Given the description of an element on the screen output the (x, y) to click on. 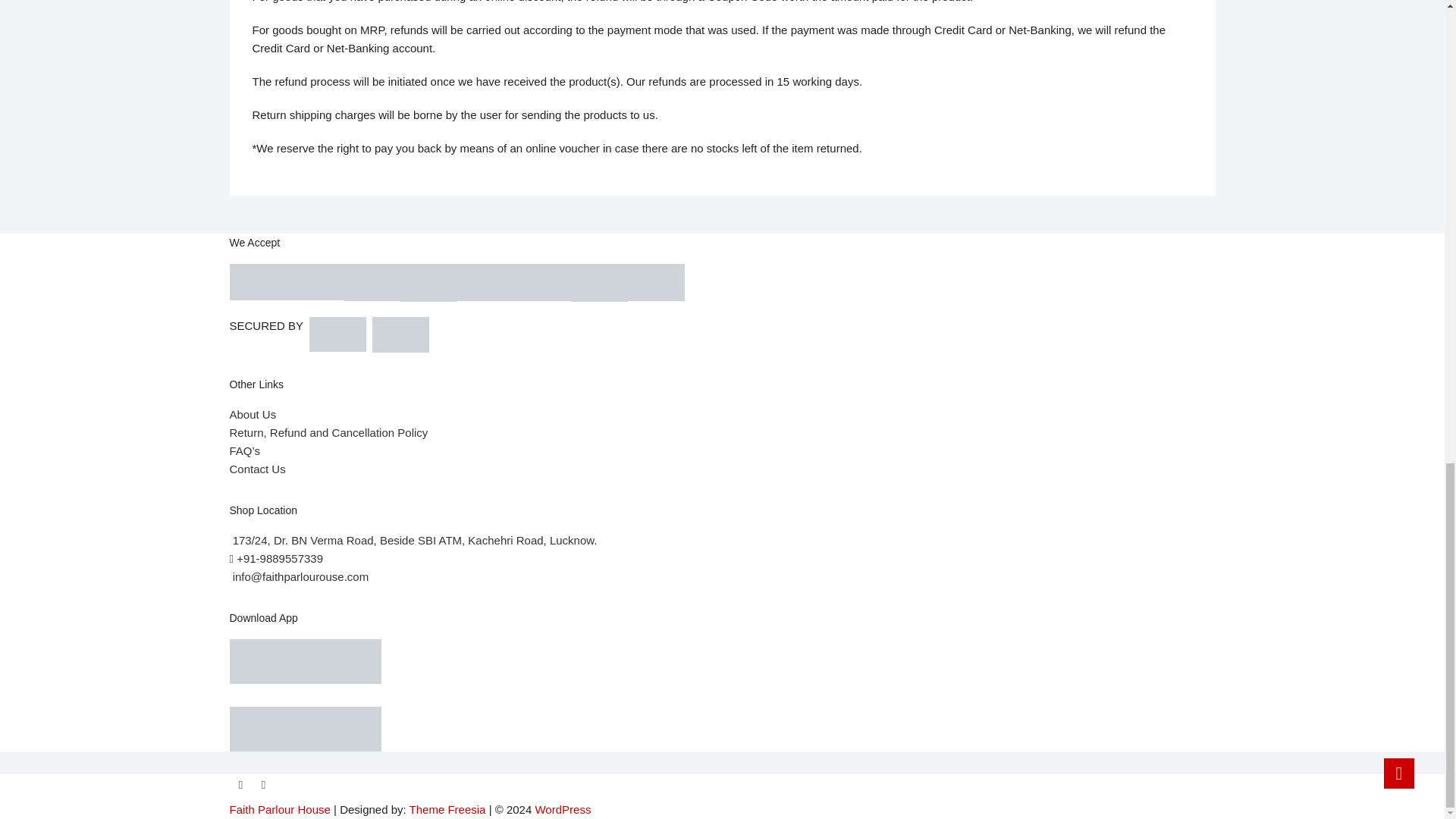
Theme Freesia (447, 809)
WordPress (562, 809)
Faith Parlour House (279, 809)
Our Address (412, 540)
Call Us (275, 558)
Mail Us (298, 576)
